Given the description of an element on the screen output the (x, y) to click on. 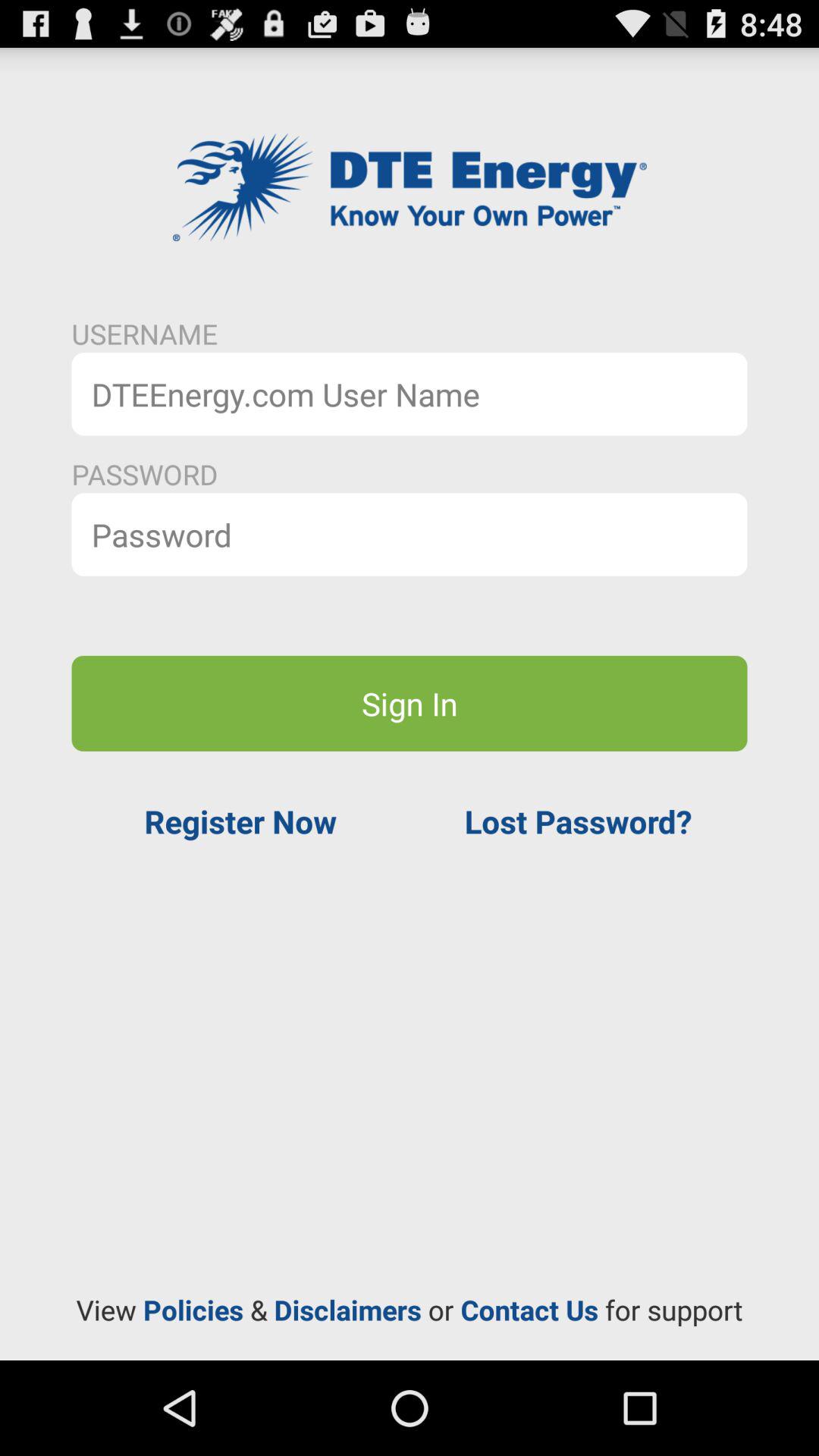
turn off item above view policies disclaimers app (240, 821)
